Given the description of an element on the screen output the (x, y) to click on. 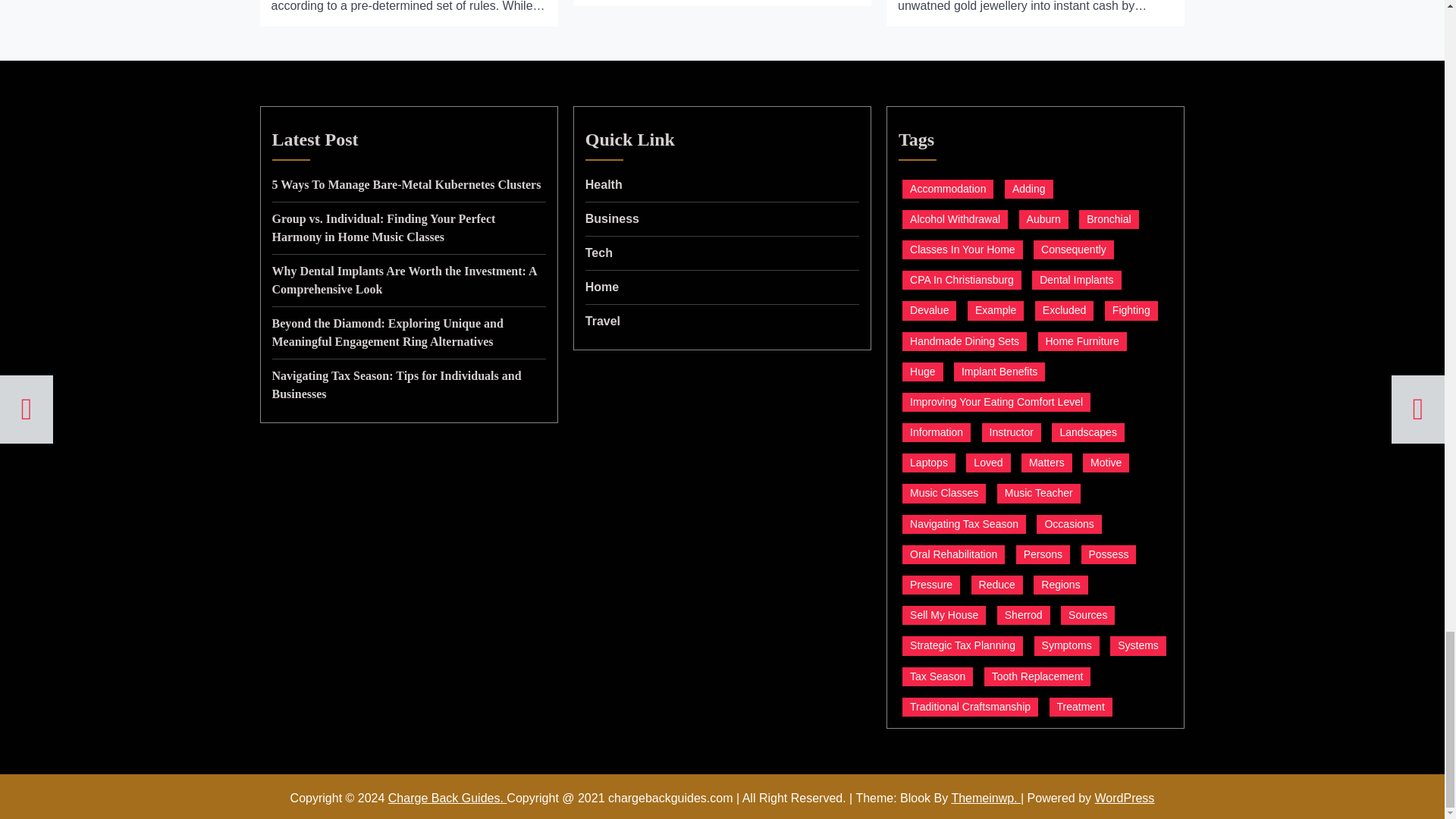
Charge Back Guides (447, 797)
Themeinwp (985, 797)
WordPress (1124, 797)
